Given the description of an element on the screen output the (x, y) to click on. 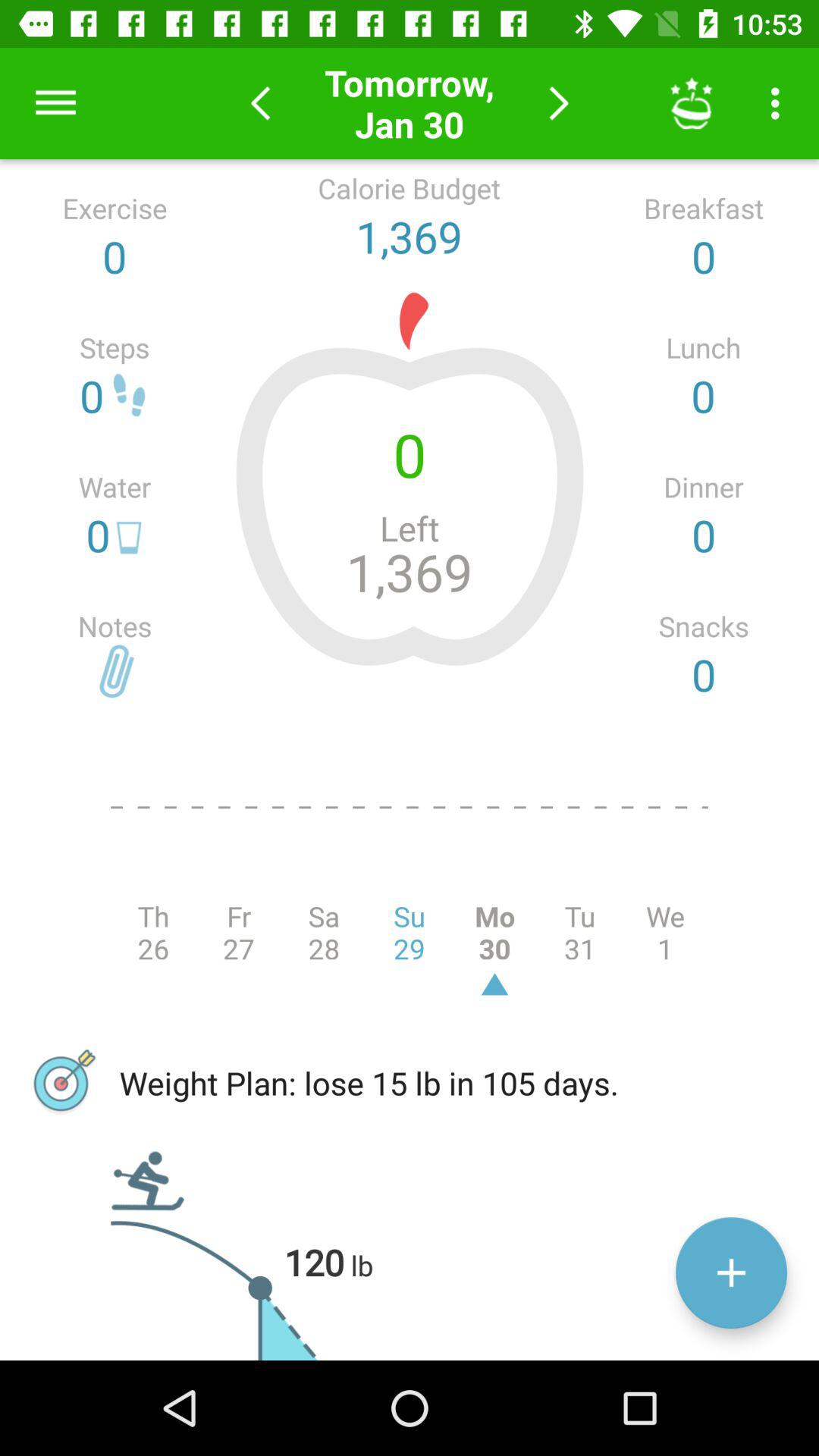
add data (731, 1272)
